Given the description of an element on the screen output the (x, y) to click on. 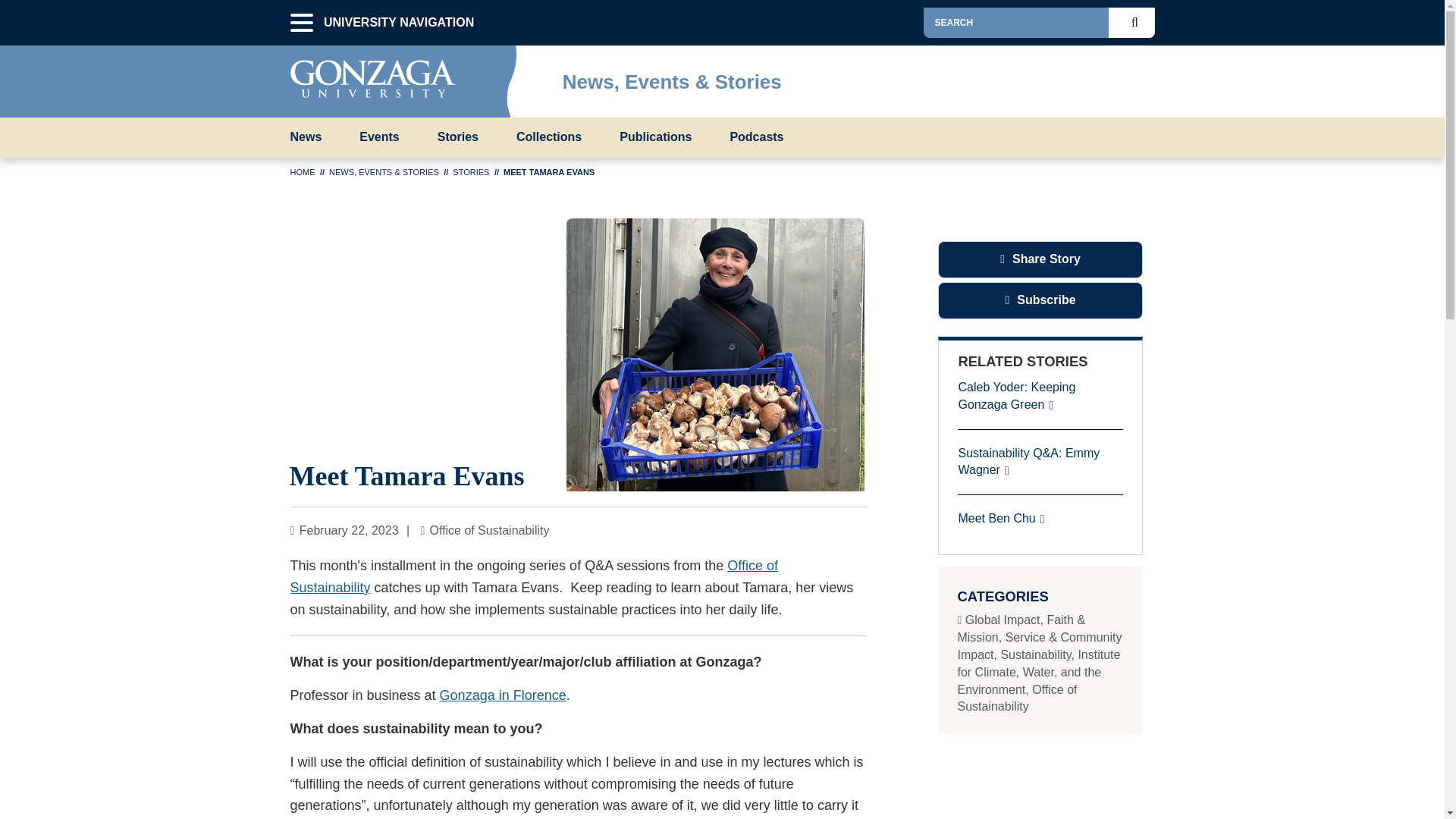
UNIVERSITY NAVIGATION (301, 22)
SEARCH BUTTON (1137, 22)
Toggle Menu (1142, 77)
